Given the description of an element on the screen output the (x, y) to click on. 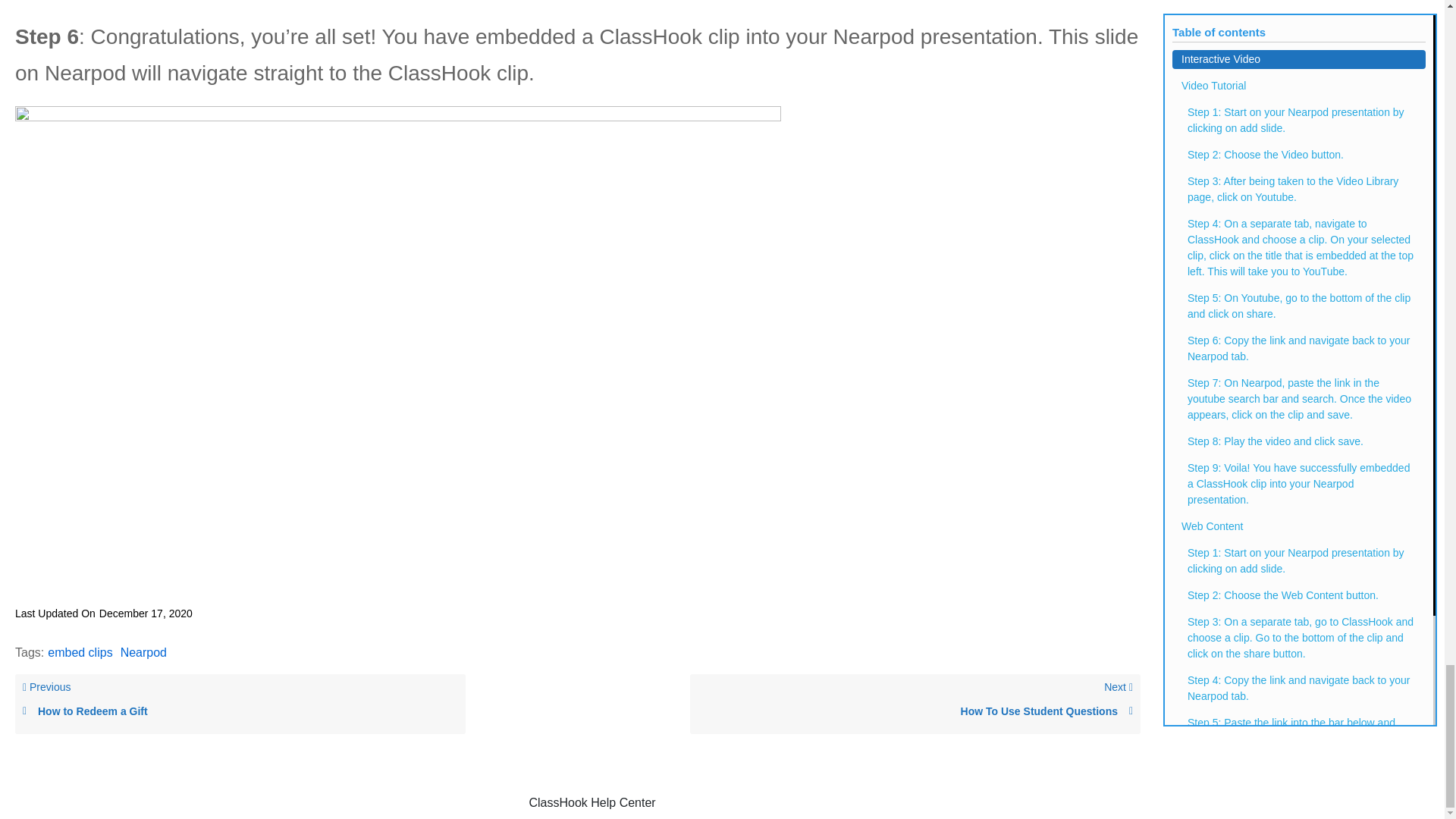
embed clips (80, 652)
Nearpod (915, 703)
How to Redeem a Gift (143, 652)
How To Use Student Questions (239, 703)
